Given the description of an element on the screen output the (x, y) to click on. 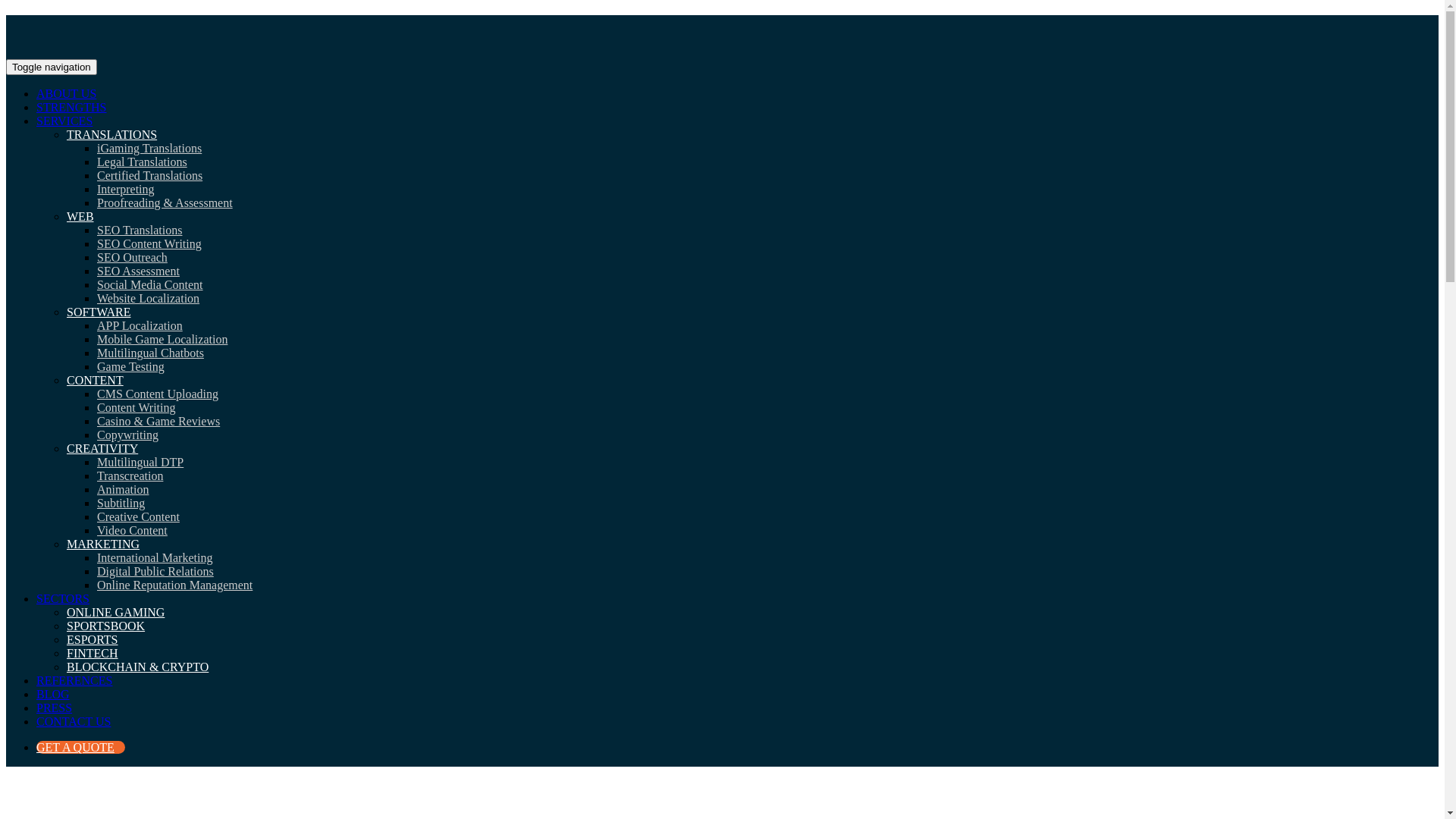
Game Testing Element type: text (130, 366)
APP Localization Element type: text (139, 325)
Animation Element type: text (122, 489)
SERVICES Element type: text (64, 120)
SEO Translations Element type: text (139, 229)
WEB Element type: text (80, 216)
PRESS Element type: text (54, 707)
Video Content Element type: text (132, 530)
MARKETING Element type: text (102, 543)
SECTORS Element type: text (62, 598)
CONTENT Element type: text (94, 379)
Proofreading & Assessment Element type: text (164, 202)
Digital Public Relations Element type: text (155, 570)
Multilingual Chatbots Element type: text (150, 352)
Mobile Game Localization Element type: text (162, 338)
Website Localization Element type: text (148, 297)
REFERENCES Element type: text (74, 680)
GET A QUOTE Element type: text (80, 746)
SOFTWARE Element type: text (98, 311)
SPORTSBOOK Element type: text (105, 625)
Social Media Content Element type: text (150, 284)
SEO Outreach Element type: text (132, 257)
STRENGTHS Element type: text (71, 106)
Legal Translations Element type: text (142, 161)
CMS Content Uploading Element type: text (157, 393)
Interpreting Element type: text (125, 188)
International Marketing Element type: text (154, 557)
ABOUT US Element type: text (66, 93)
ONLINE GAMING Element type: text (115, 611)
CREATIVITY Element type: text (102, 448)
SEO Assessment Element type: text (138, 270)
Creative Content Element type: text (138, 516)
Toggle navigation Element type: text (51, 67)
Multilingual DTP Element type: text (140, 461)
Content Writing Element type: text (136, 407)
Online Reputation Management Element type: text (174, 584)
ESPORTS Element type: text (92, 639)
BLOG Element type: text (52, 693)
Certified Translations Element type: text (149, 175)
SEO Content Writing Element type: text (149, 243)
CONTACT US Element type: text (73, 721)
BLOCKCHAIN & CRYPTO Element type: text (137, 666)
TRANSLATIONS Element type: text (111, 134)
Copywriting Element type: text (127, 434)
Subtitling Element type: text (120, 502)
FINTECH Element type: text (92, 652)
iGaming Translations Element type: text (149, 147)
Transcreation Element type: text (130, 475)
Casino & Game Reviews Element type: text (158, 420)
